Given the description of an element on the screen output the (x, y) to click on. 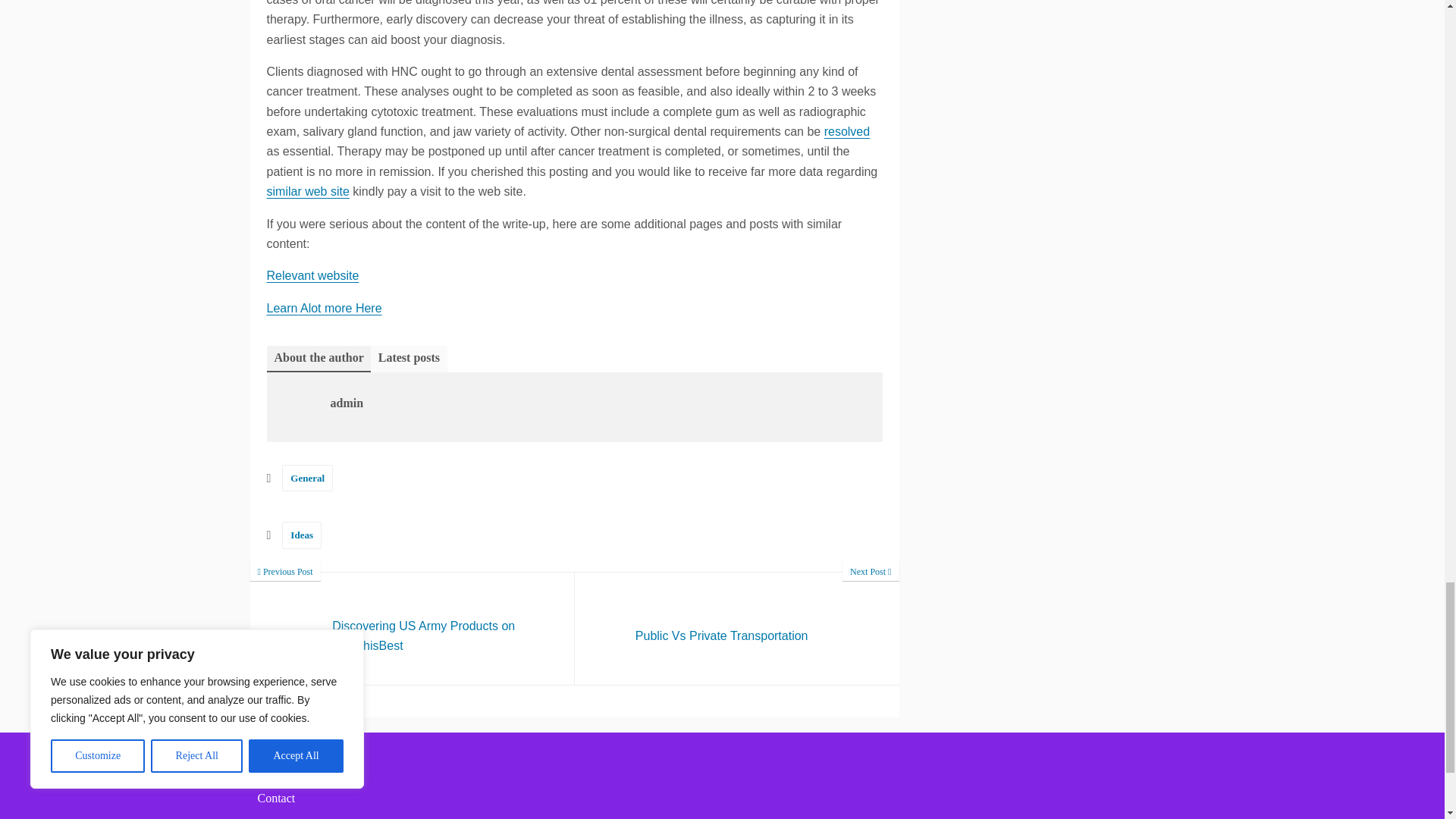
Discovering US Army Products on FindThisBest (737, 628)
Relevant website (412, 628)
Learn Alot more Here (312, 275)
resolved (323, 308)
Public Vs Private Transportation (846, 131)
Ideas (737, 628)
General (301, 534)
similar web site (307, 478)
